Given the description of an element on the screen output the (x, y) to click on. 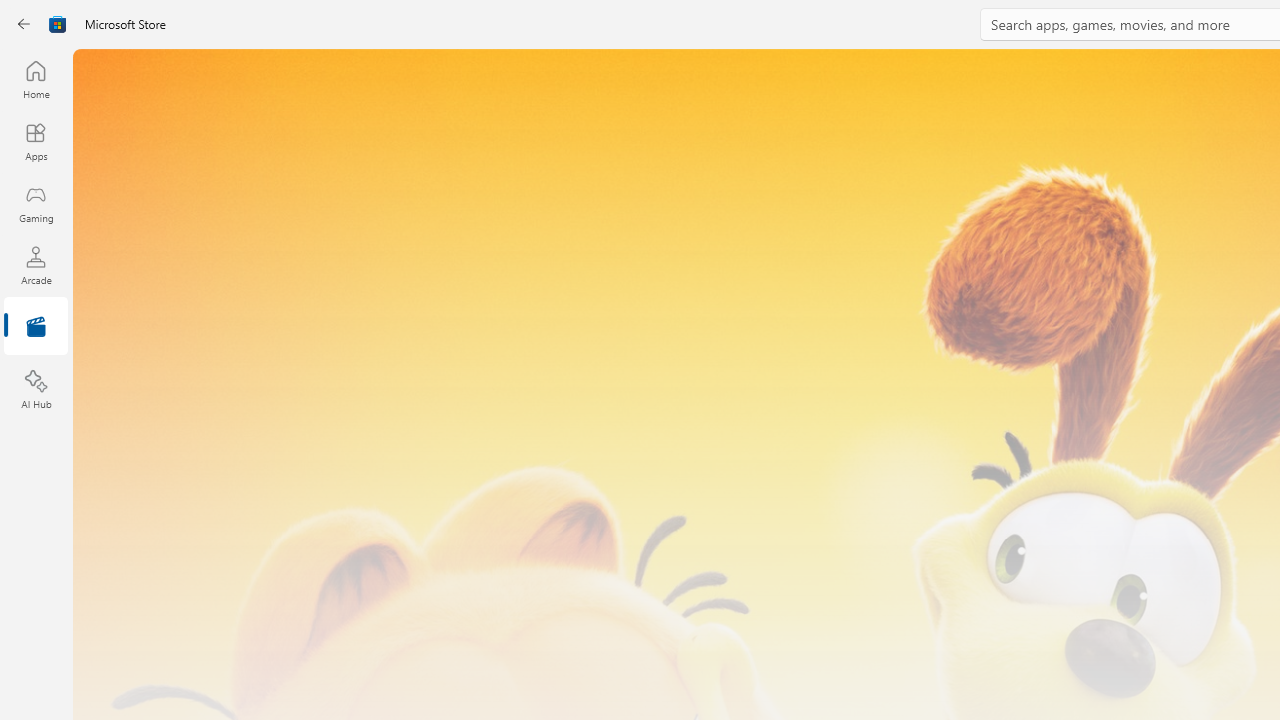
Entertainment (35, 327)
Class: Image (58, 24)
Arcade (35, 265)
AI Hub (35, 390)
Home (35, 79)
Gaming (35, 203)
Back (24, 24)
